Given the description of an element on the screen output the (x, y) to click on. 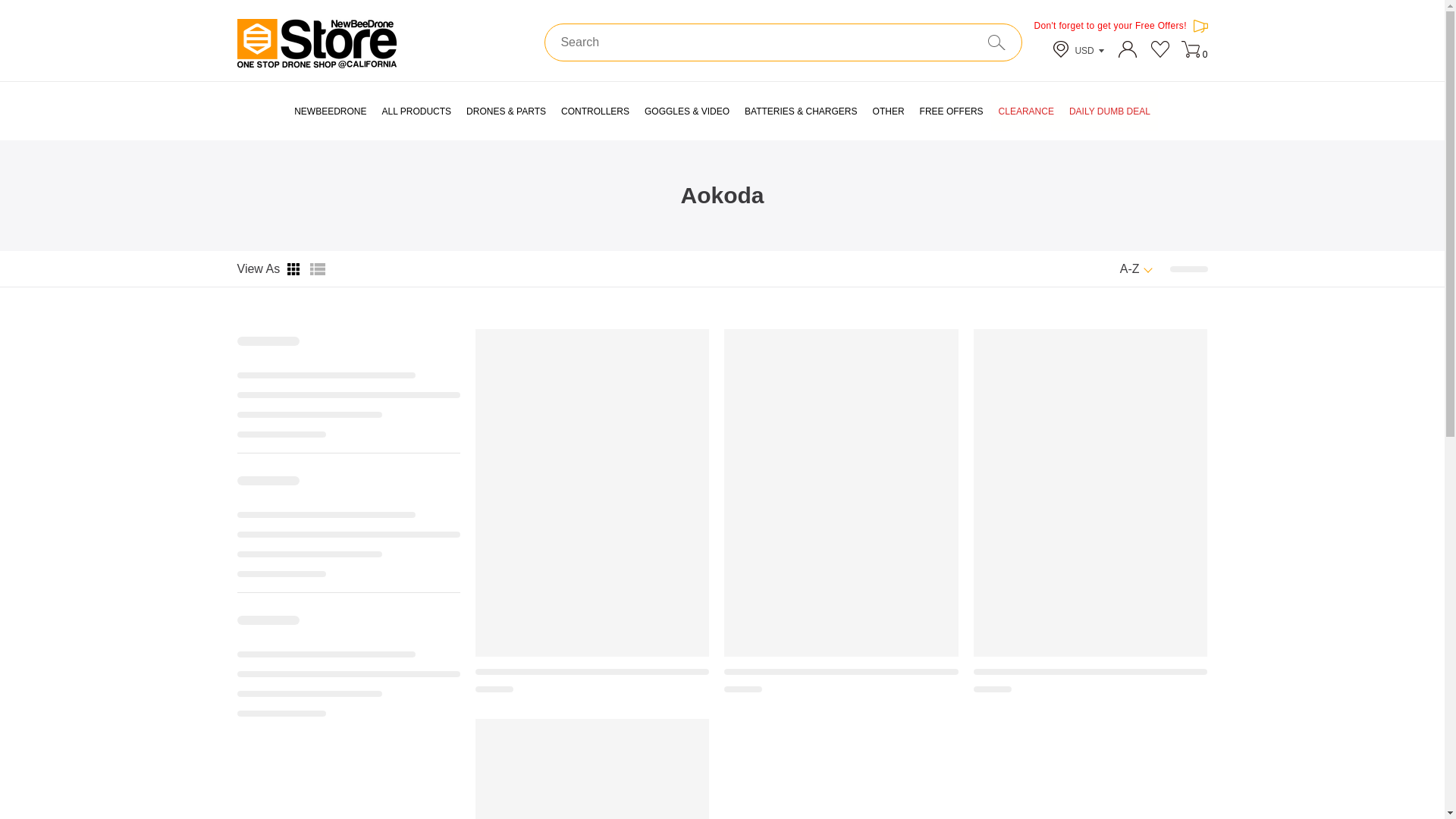
All Products (417, 110)
Don't forget to get your Free Offers! (1120, 29)
NEWBEEDRONE (330, 110)
NewBeeDrone (330, 110)
ALL PRODUCTS (417, 110)
0 (1193, 51)
